Given the description of an element on the screen output the (x, y) to click on. 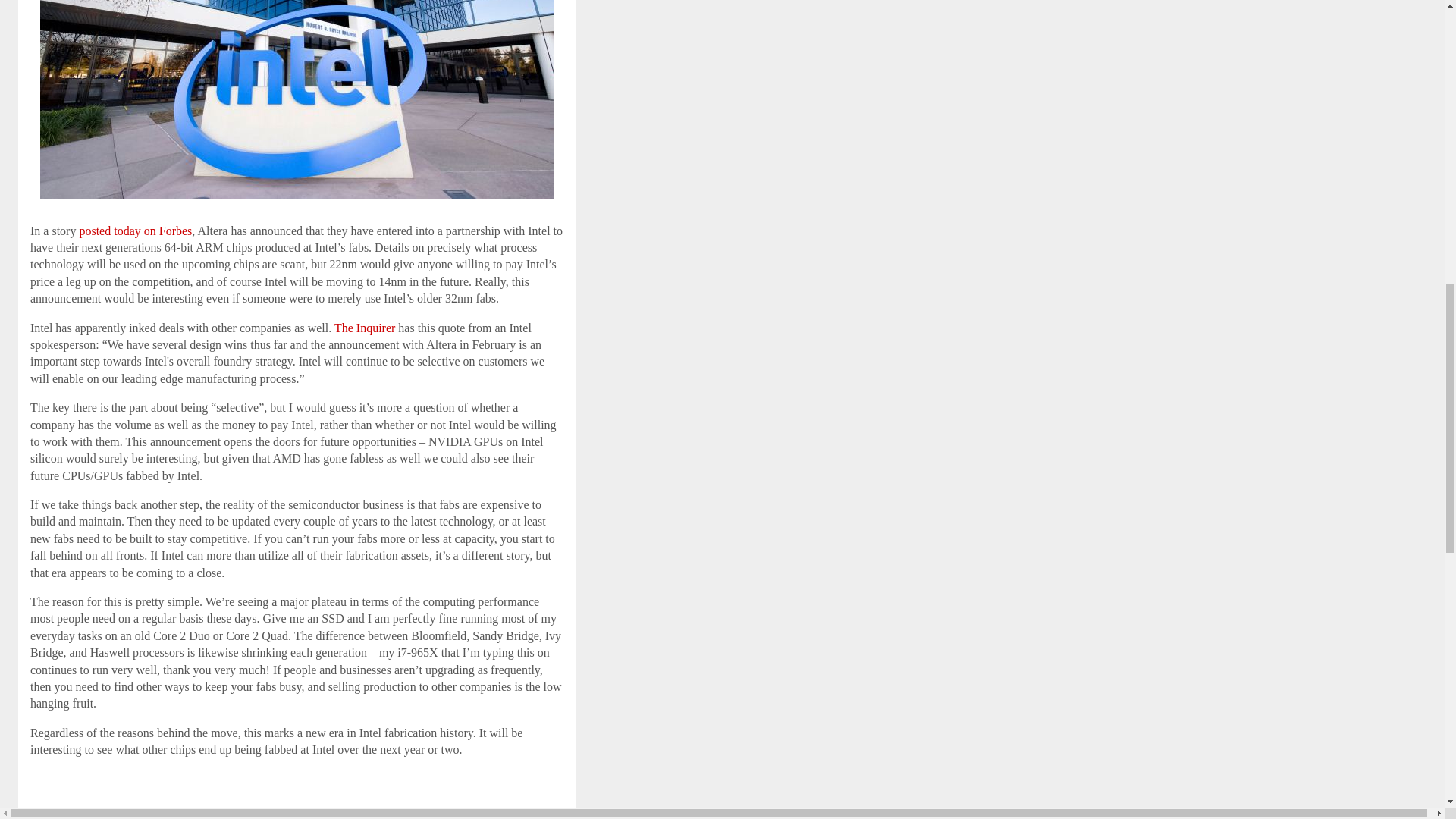
The Inquirer (364, 327)
posted today on Forbes (135, 230)
